Given the description of an element on the screen output the (x, y) to click on. 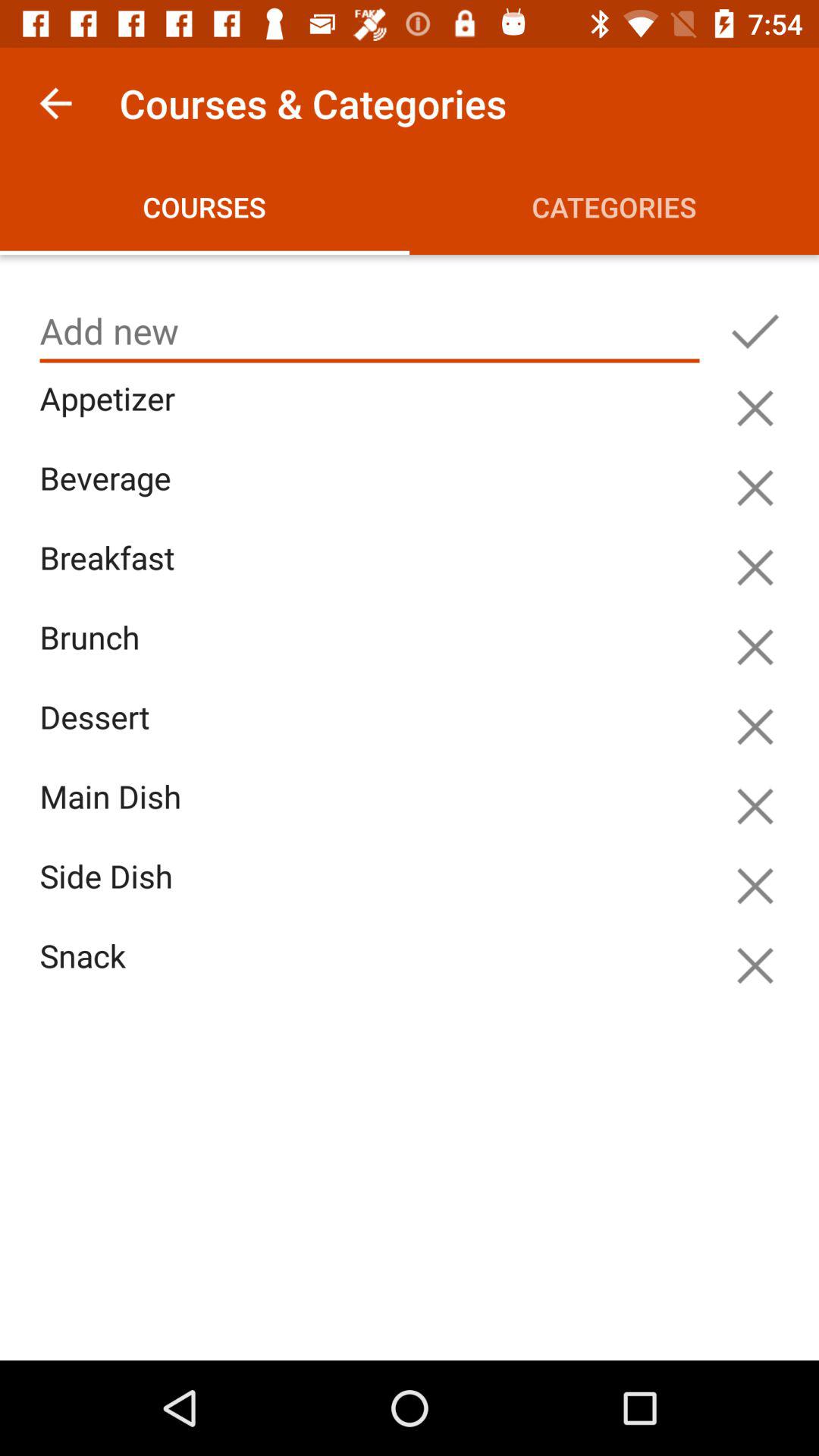
delete search (755, 487)
